Given the description of an element on the screen output the (x, y) to click on. 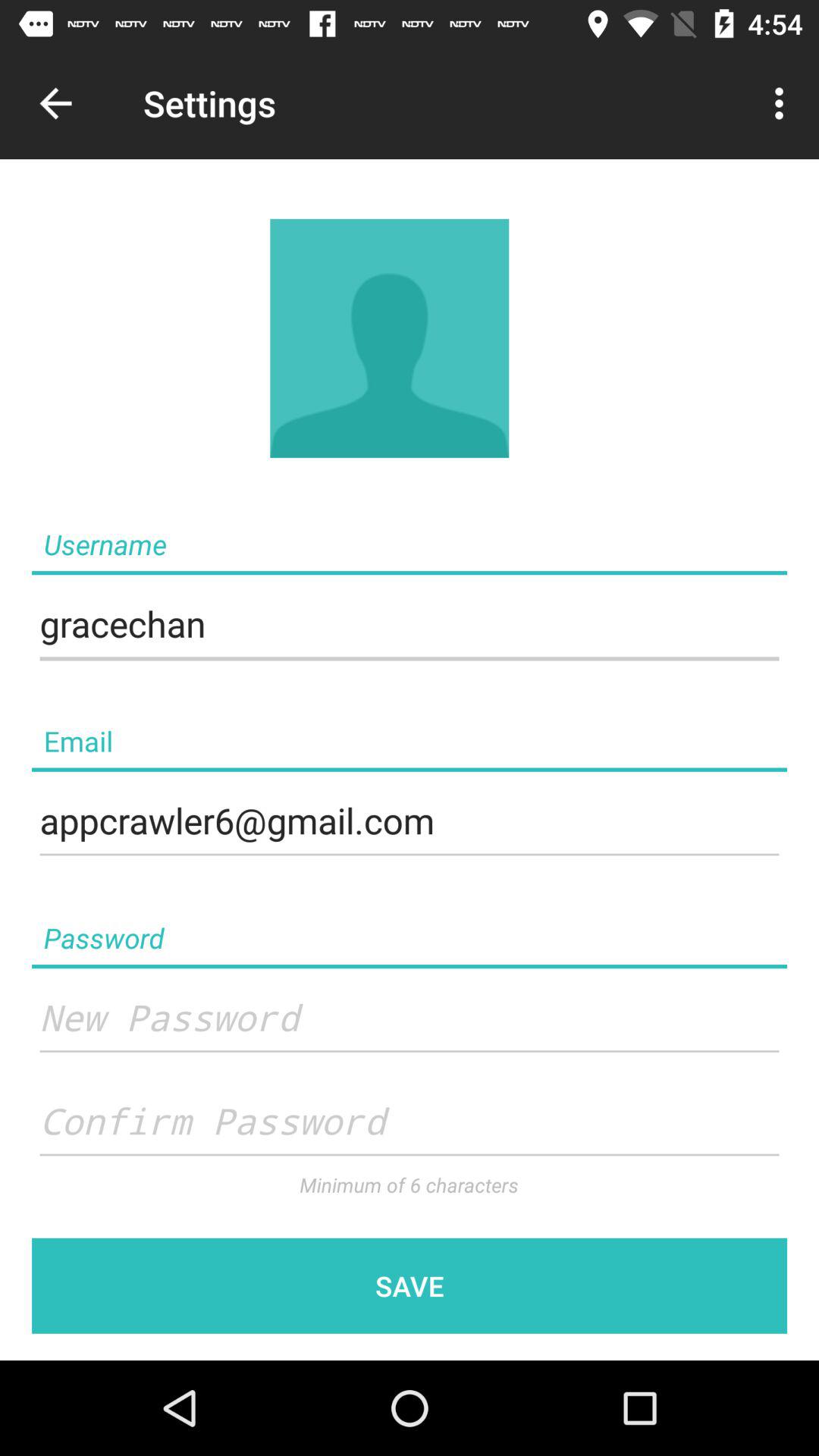
confirm password (409, 1121)
